Given the description of an element on the screen output the (x, y) to click on. 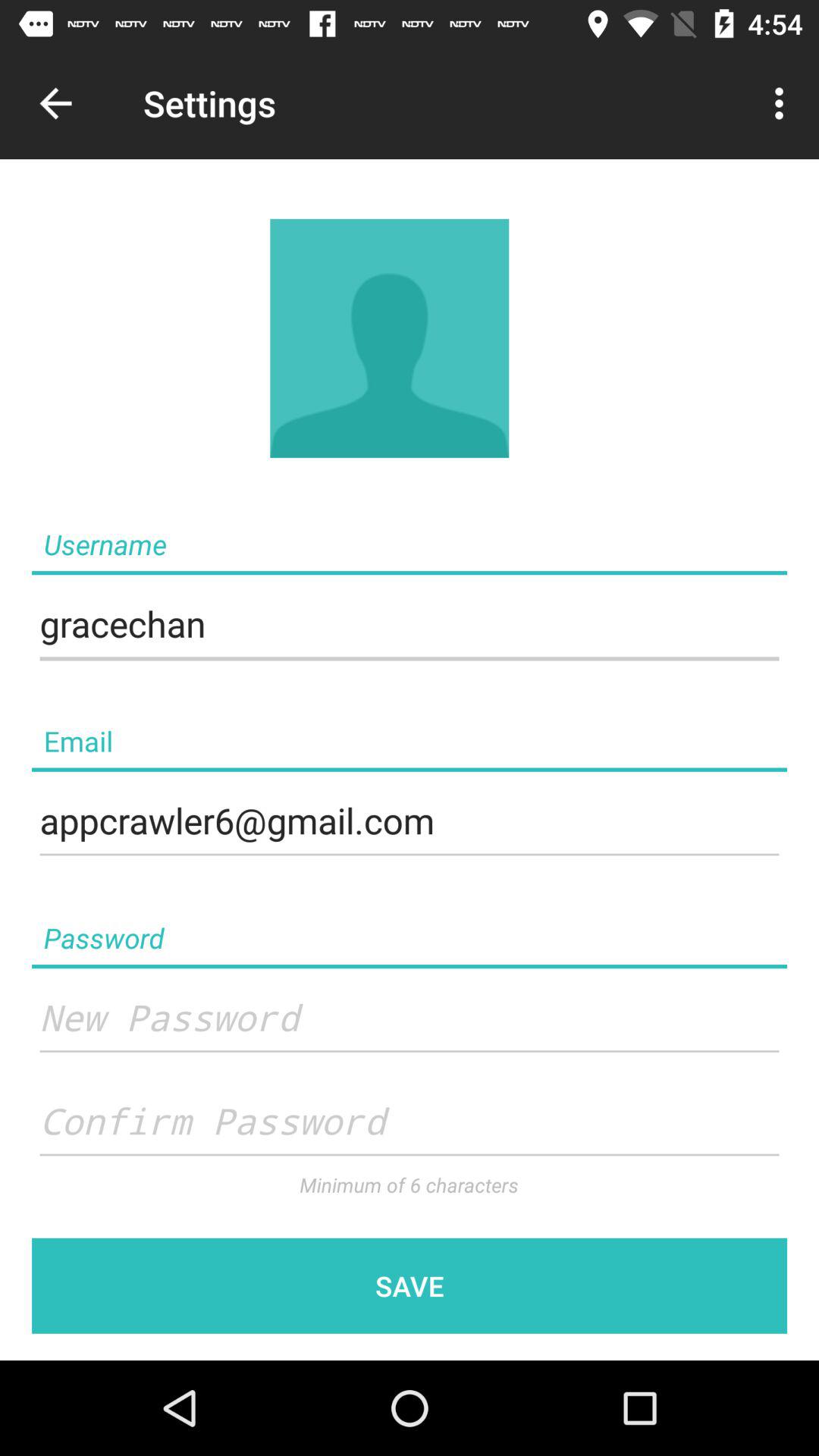
confirm password (409, 1121)
